Given the description of an element on the screen output the (x, y) to click on. 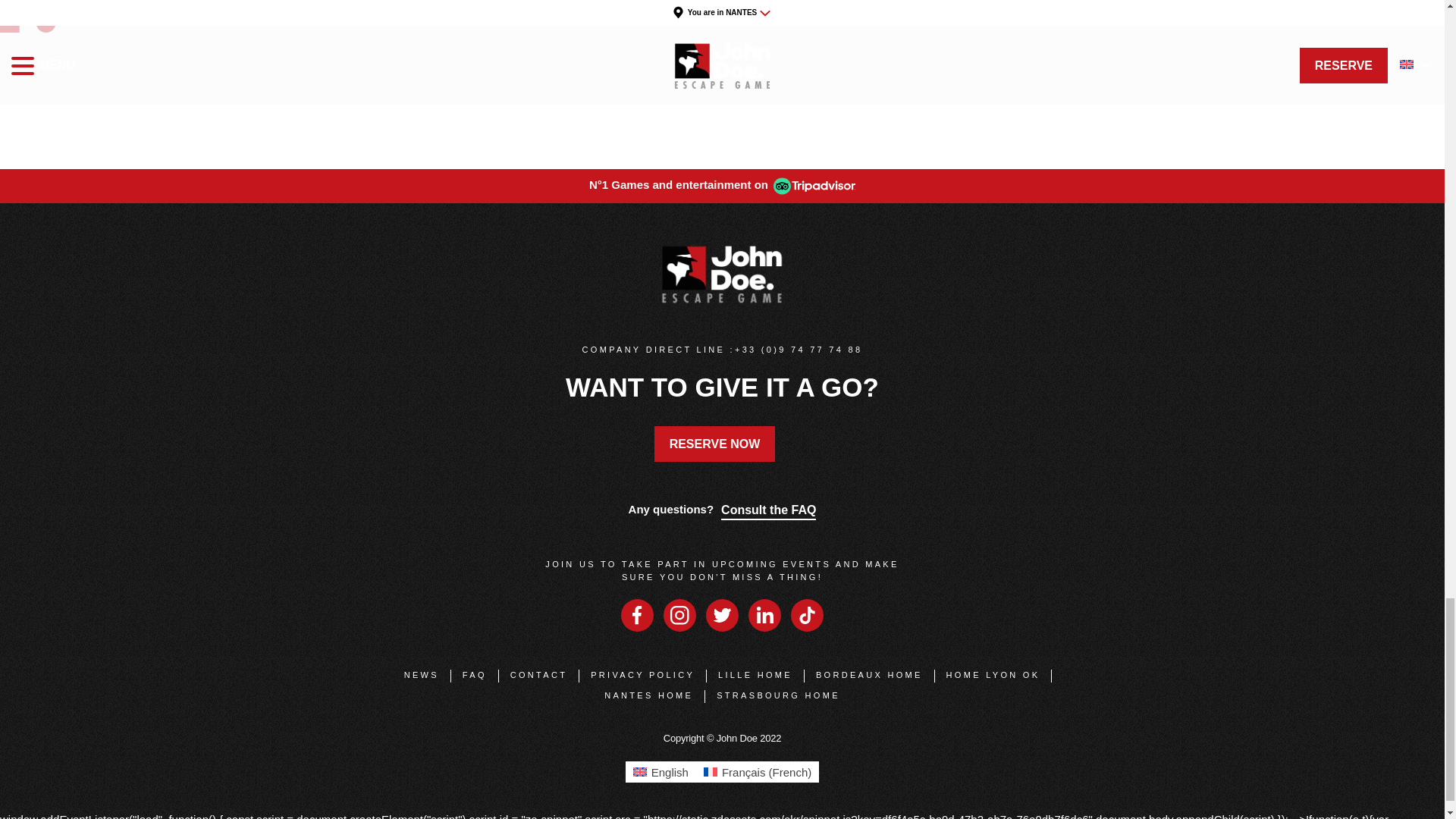
Consult the FAQ (767, 508)
BORDEAUX HOME (869, 673)
NANTES HOME (648, 695)
LILLE HOME (754, 673)
HOME LYON OK (993, 673)
English (660, 745)
RESERVE NOW (714, 443)
NEWS (421, 673)
STRASBOURG HOME (778, 695)
CONTACT (539, 673)
